Given the description of an element on the screen output the (x, y) to click on. 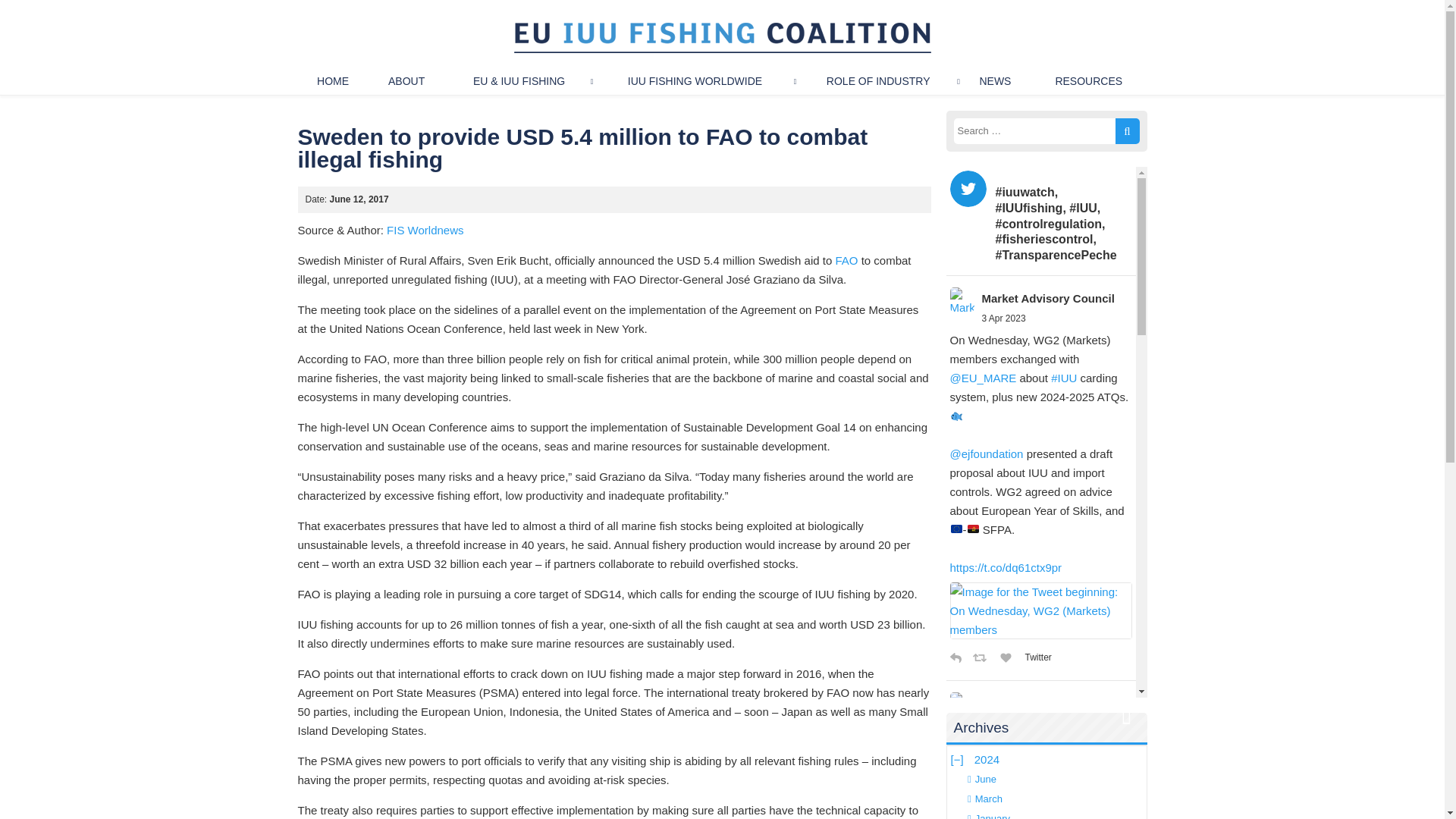
HOME (332, 81)
NEWS (994, 81)
Market Advisory Council (1047, 298)
FAO (845, 259)
FIS Worldnews (425, 229)
ABOUT (406, 81)
IUU FISHING WORLDWIDE (694, 81)
Retweet on Twitter (982, 658)
Search for: (1046, 130)
Latest News from IUU (994, 81)
Reply on Twitter (957, 658)
ROLE OF INDUSTRY (877, 81)
3 Apr 2023 (1003, 317)
RESOURCES (1088, 81)
IUU Watch (332, 81)
